Given the description of an element on the screen output the (x, y) to click on. 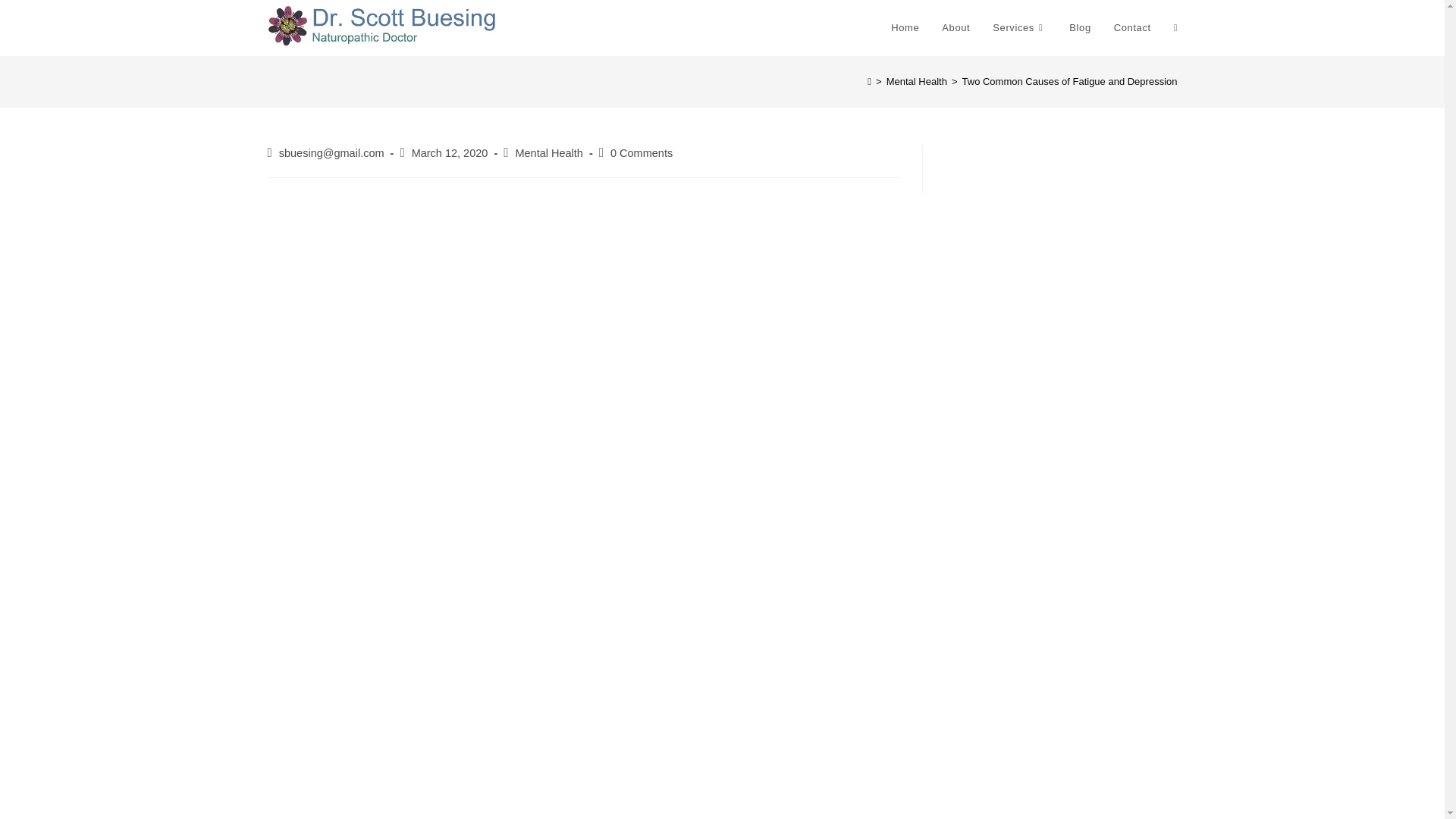
Contact (1131, 28)
Mental Health (548, 152)
Home (904, 28)
Two Common Causes of Fatigue and Depression (1069, 81)
Mental Health (916, 81)
Services (1019, 28)
0 Comments (641, 152)
About (955, 28)
